Given the description of an element on the screen output the (x, y) to click on. 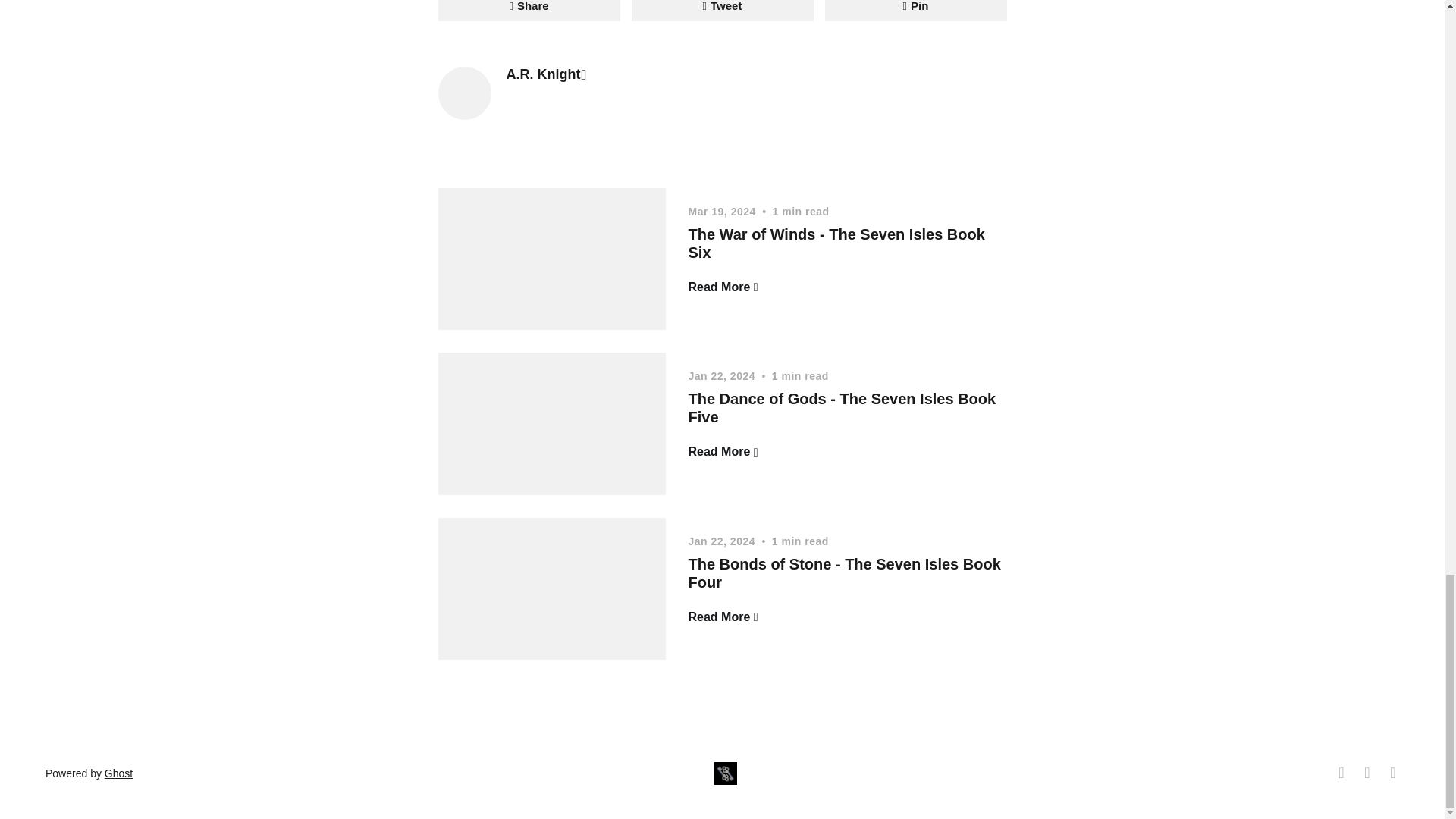
Read More (723, 286)
The Bonds of Stone - The Seven Isles Book Four (844, 573)
Read More (723, 451)
Tweet (721, 10)
Pin (916, 10)
Ghost (118, 773)
The War of Winds - The Seven Isles Book Six (836, 243)
The Dance of Gods - The Seven Isles Book Five (841, 407)
Read More (723, 616)
Share (529, 10)
